Given the description of an element on the screen output the (x, y) to click on. 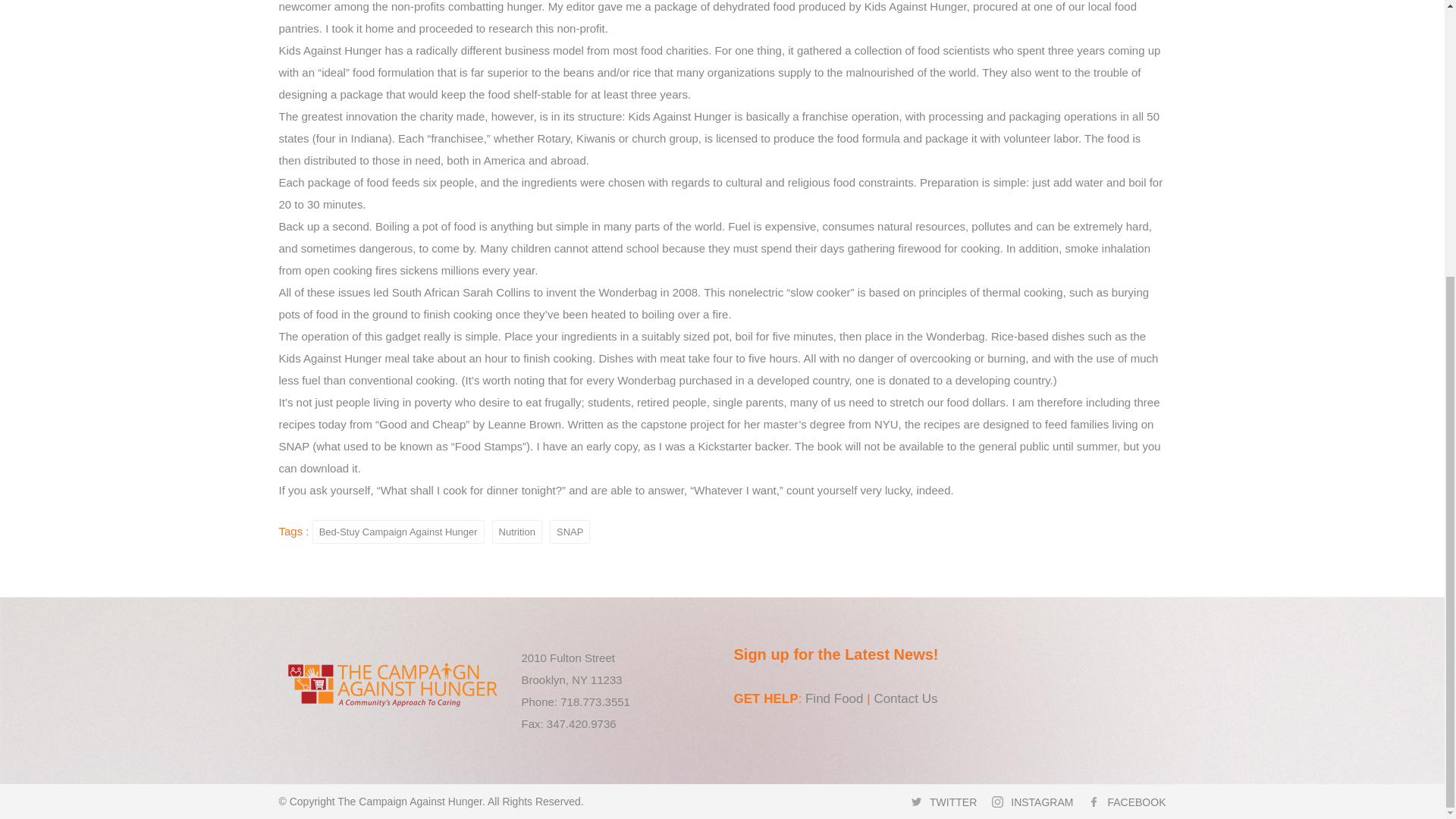
Find Food (834, 698)
Search (890, 11)
INSTAGRAM (1041, 801)
FACEBOOK (1136, 801)
SNAP (569, 531)
TWITTER (953, 801)
Nutrition (516, 531)
Bed-Stuy Campaign Against Hunger (398, 531)
Contact Us (905, 698)
